Given the description of an element on the screen output the (x, y) to click on. 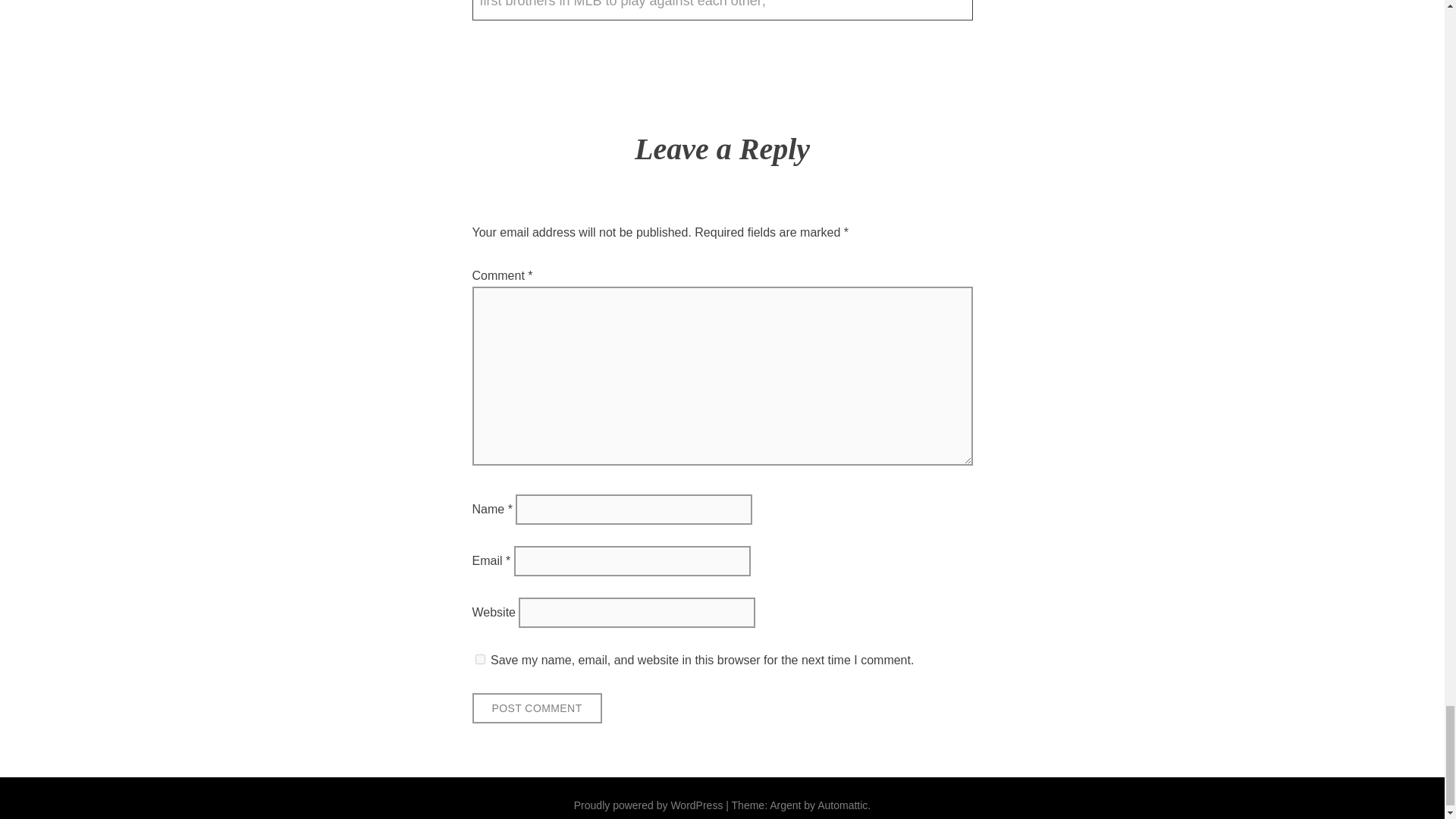
yes (479, 659)
Post Comment (536, 707)
